Given the description of an element on the screen output the (x, y) to click on. 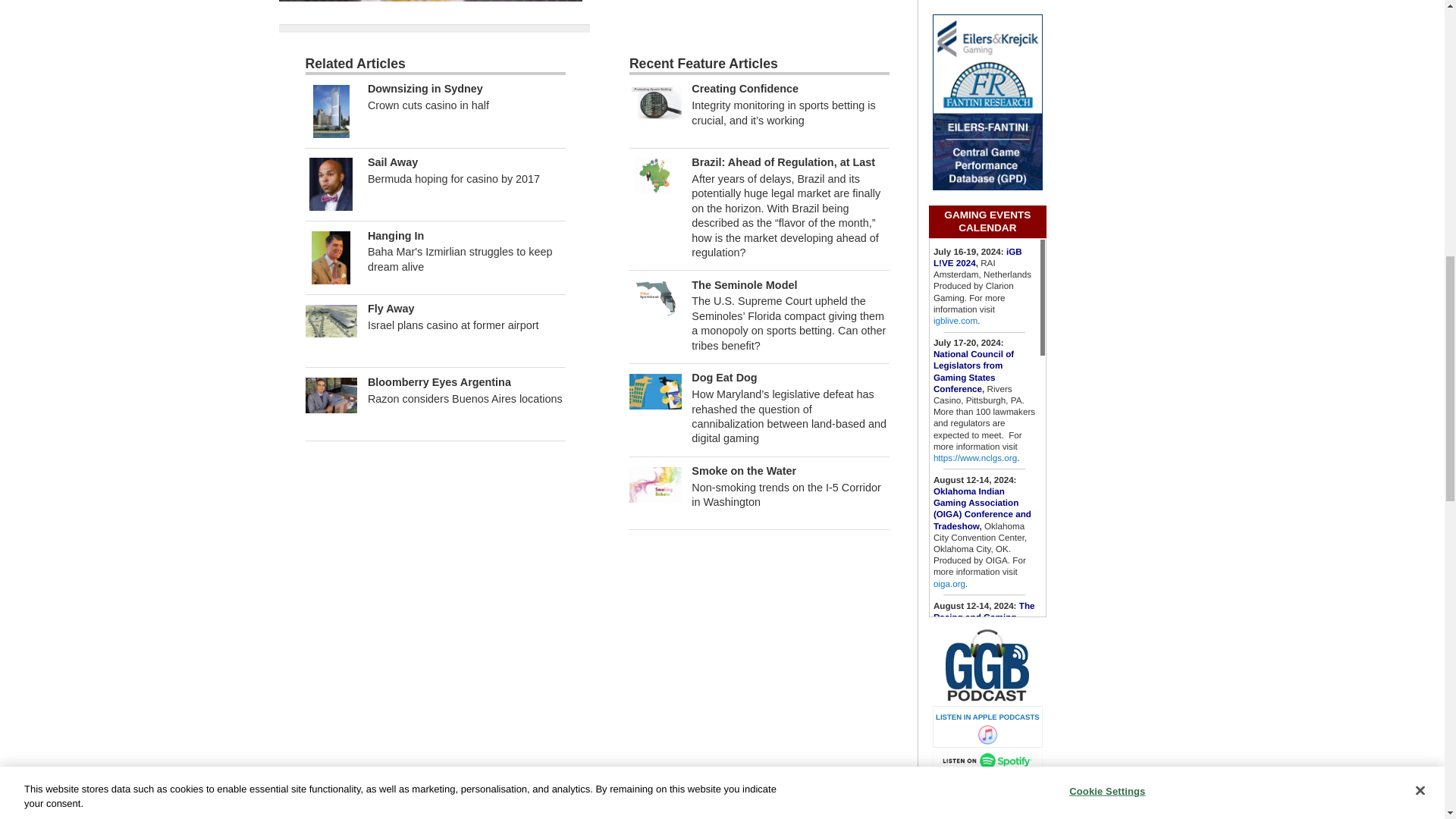
Hanging In (330, 256)
Sail Away (392, 162)
Downsizing in Sydney (331, 110)
Hanging In (395, 235)
Downsizing in Sydney (425, 88)
Sail Away (330, 184)
